Given the description of an element on the screen output the (x, y) to click on. 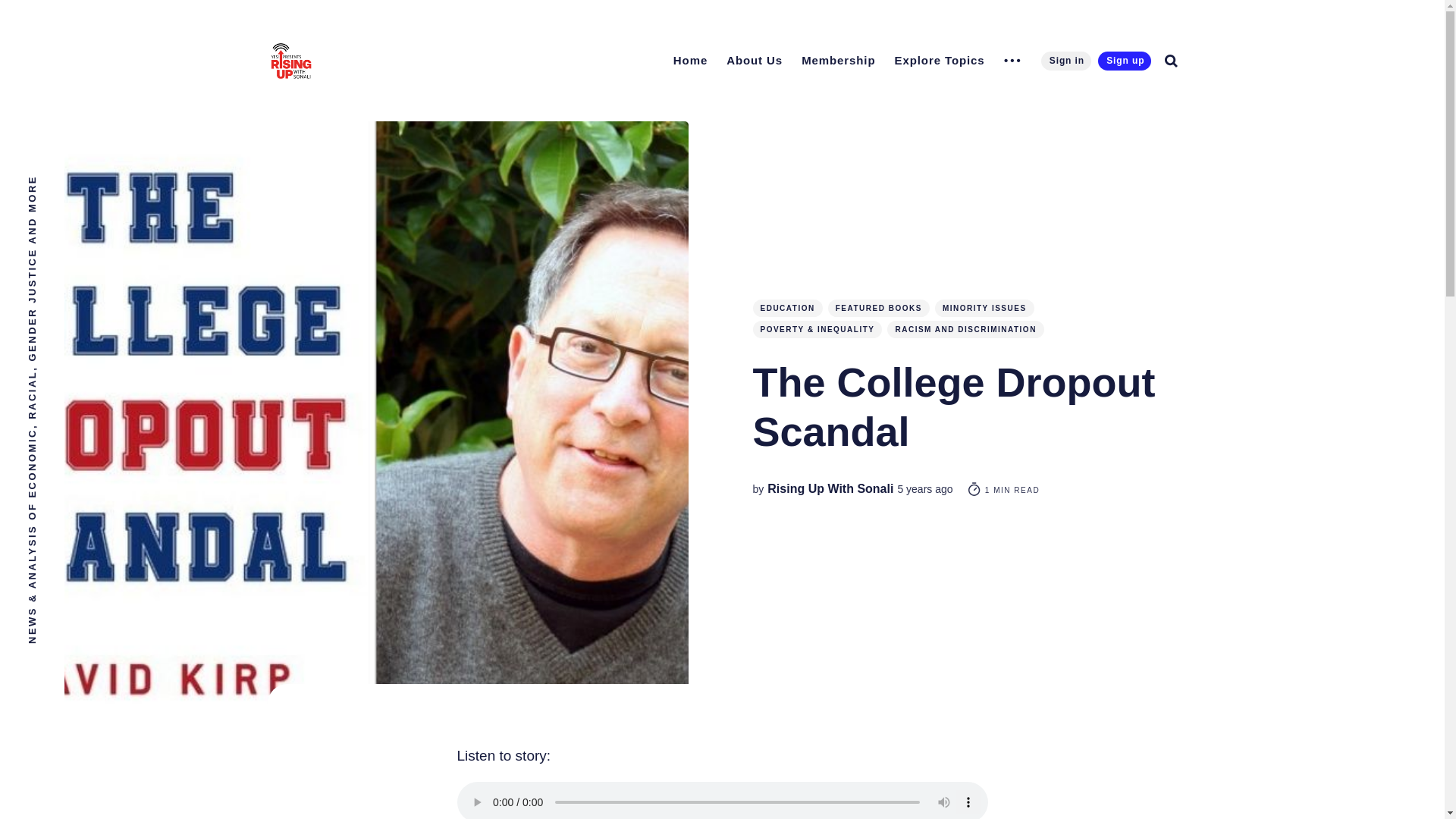
Explore Topics (939, 60)
Rising Up With Sonali (830, 488)
FEATURED BOOKS (879, 307)
MINORITY ISSUES (983, 307)
About Us (754, 60)
RACISM AND DISCRIMINATION (964, 329)
Home (689, 60)
Sign in (1065, 60)
Membership (837, 60)
Sign up (1124, 60)
EDUCATION (787, 307)
